Given the description of an element on the screen output the (x, y) to click on. 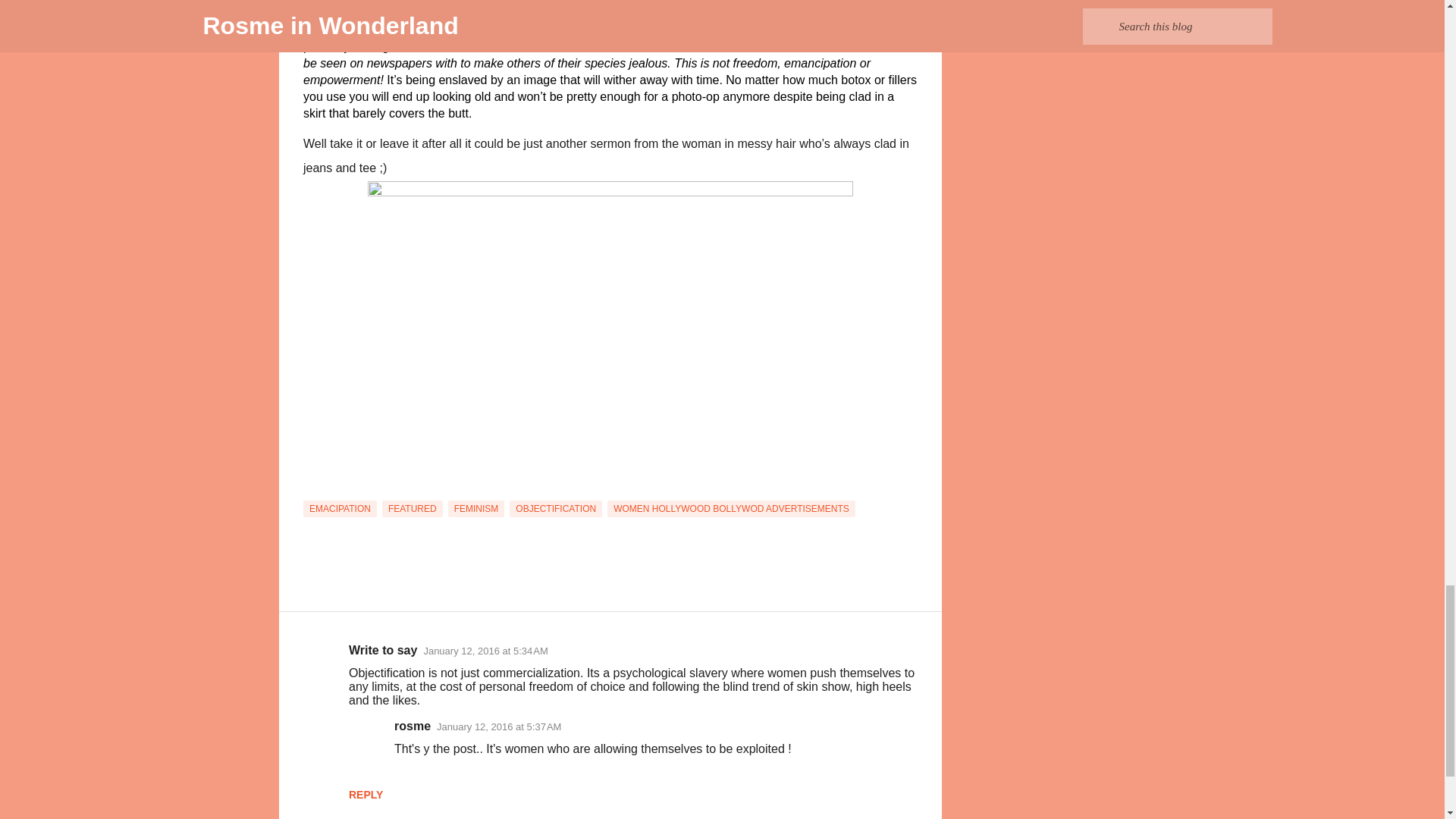
OBJECTIFICATION (555, 508)
Write to say (382, 649)
EMACIPATION (339, 508)
REPLY (365, 794)
WOMEN HOLLYWOOD BOLLYWOD ADVERTISEMENTS (731, 508)
Email Post (311, 491)
rosme (412, 725)
FEATURED (411, 508)
